Given the description of an element on the screen output the (x, y) to click on. 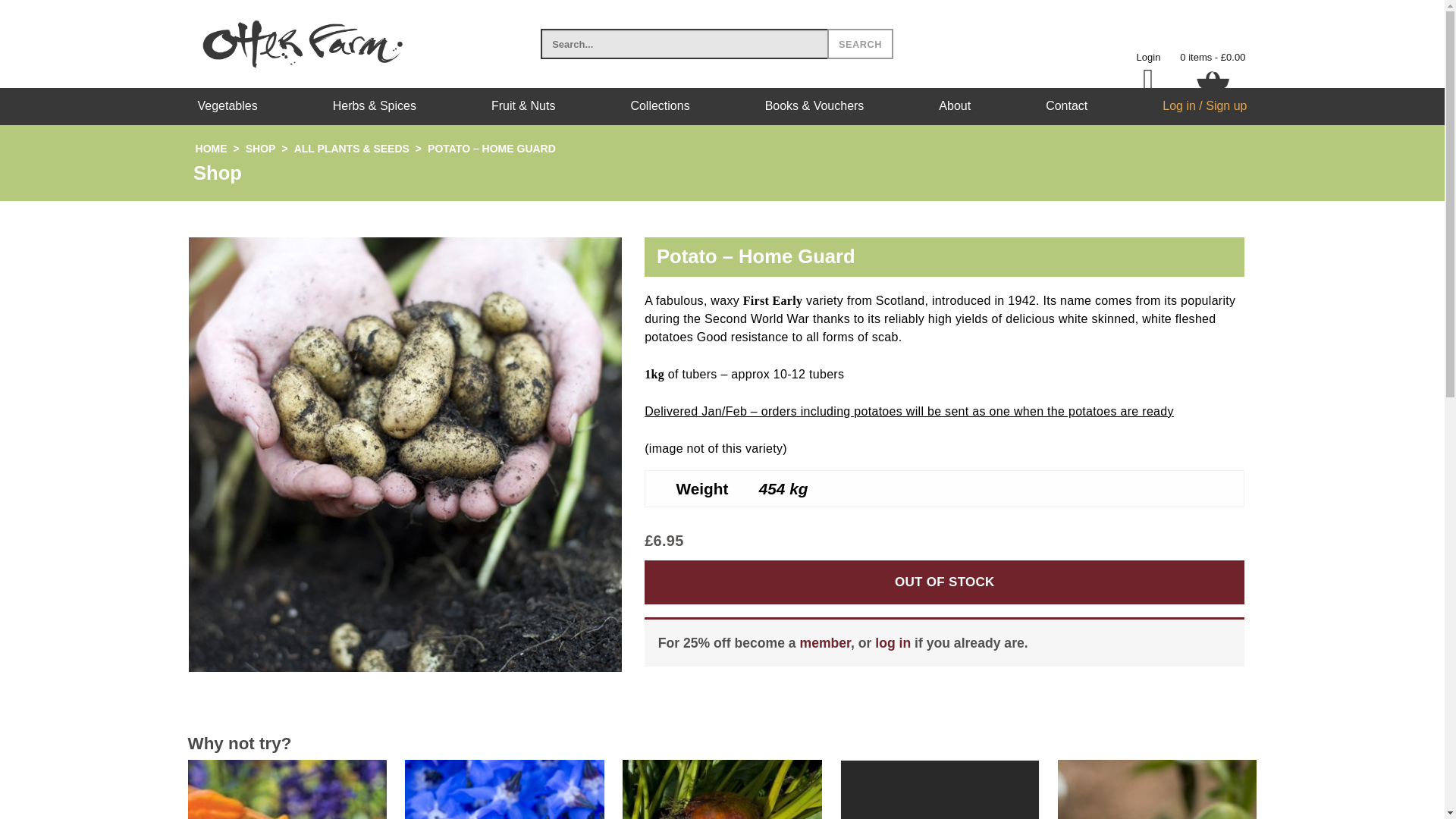
Search (860, 43)
Vegetables (227, 106)
Search for: (683, 43)
Members Area Login (1148, 57)
Search (860, 43)
Search (860, 43)
Home (211, 148)
Login (1148, 57)
